Given the description of an element on the screen output the (x, y) to click on. 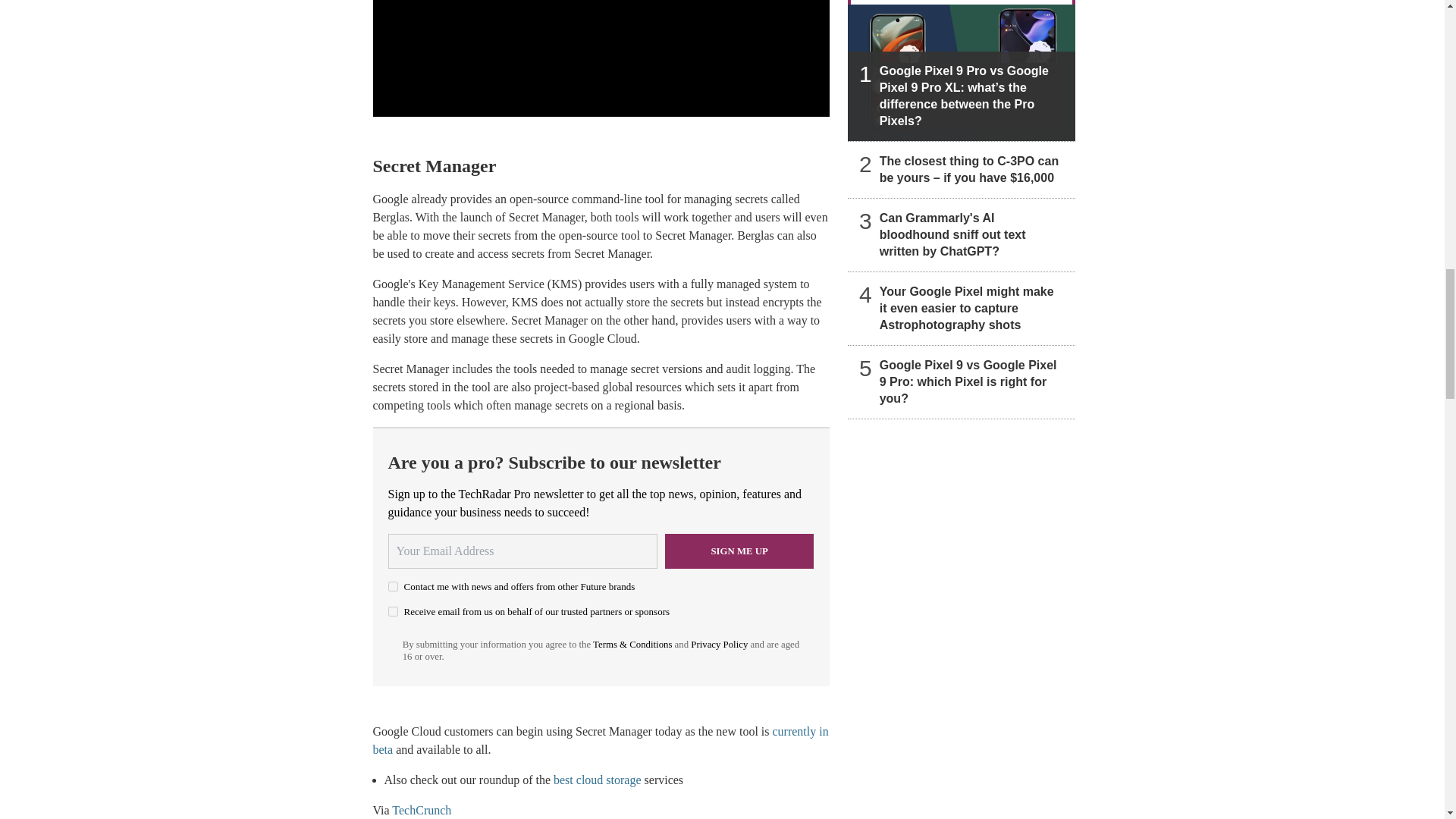
Sign me up (739, 550)
on (392, 611)
on (392, 586)
